Given the description of an element on the screen output the (x, y) to click on. 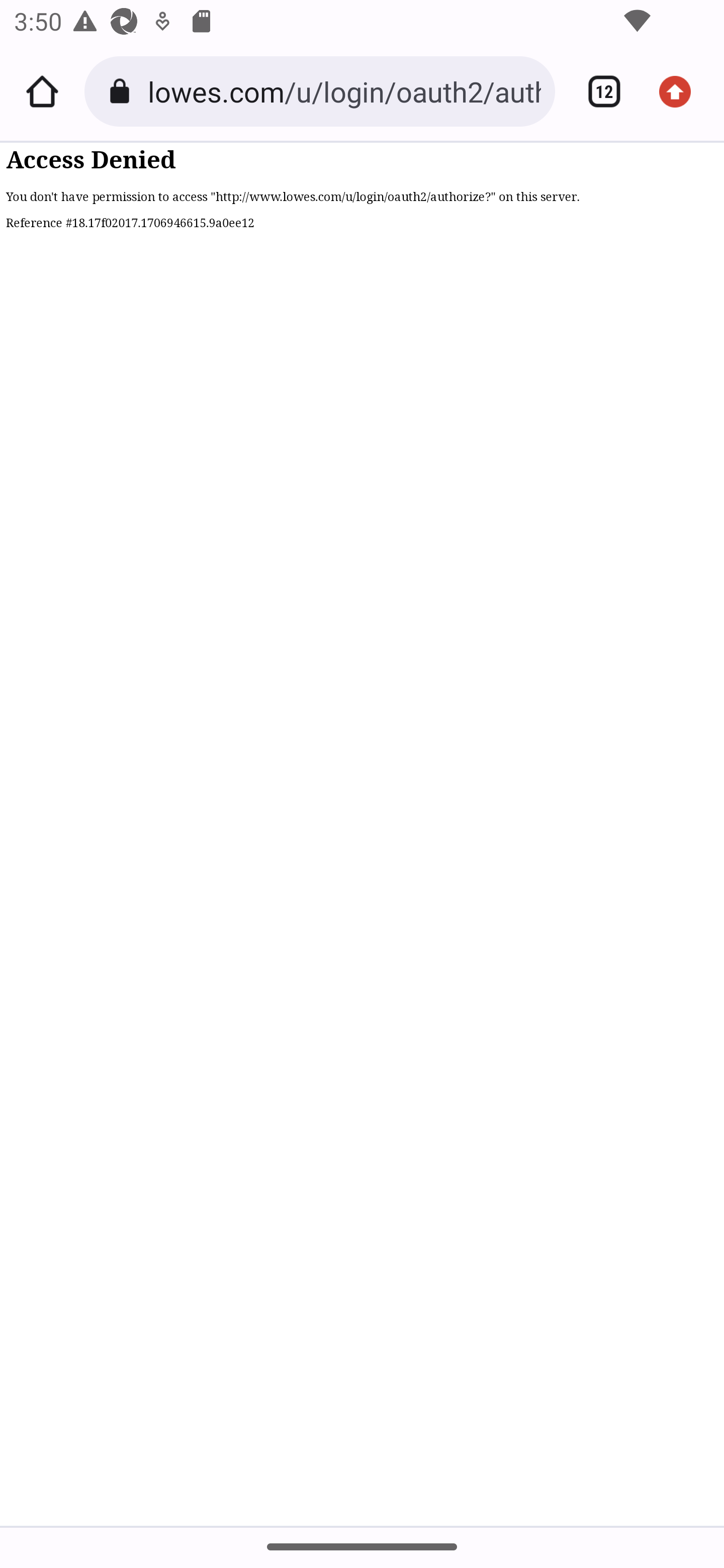
Home (42, 91)
Connection is secure (122, 91)
Switch or close tabs (597, 91)
Update available. More options (681, 91)
